Given the description of an element on the screen output the (x, y) to click on. 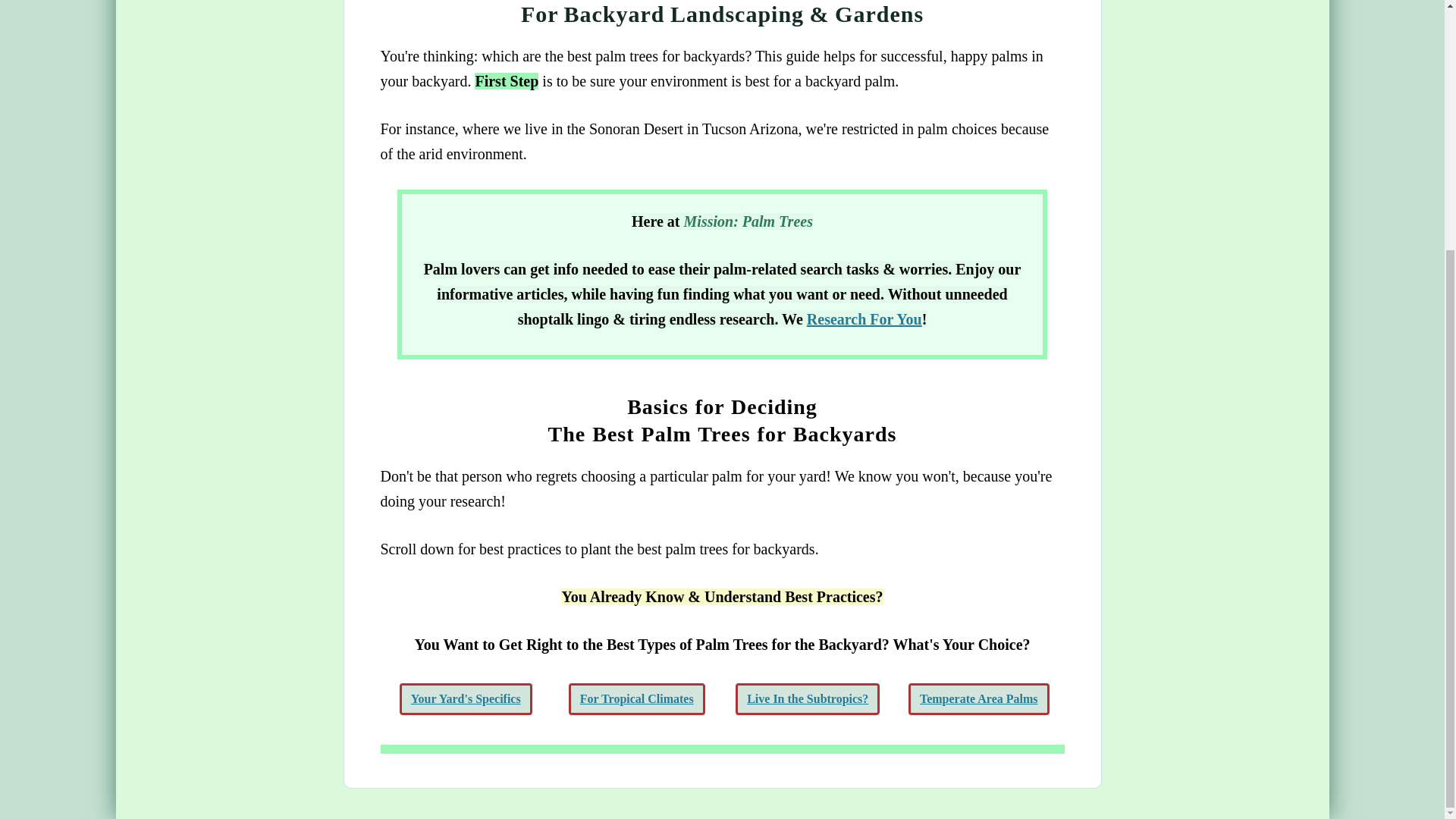
Live In the Subtropics? (807, 698)
Your Yard's Specifics (465, 698)
Research For You (863, 319)
Temperate Area Palms (978, 698)
For Tropical Climates (636, 698)
